Given the description of an element on the screen output the (x, y) to click on. 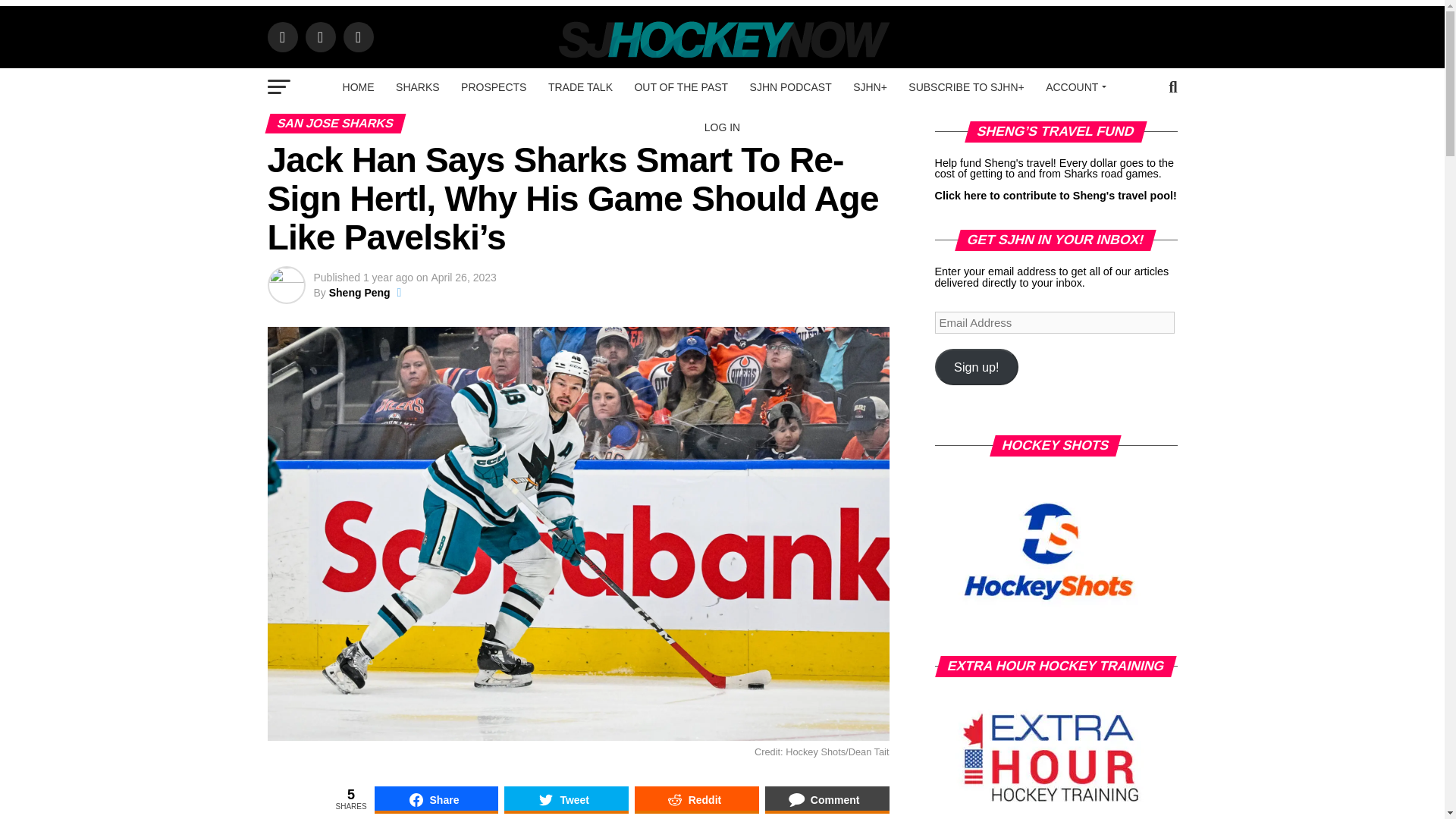
Posts by Sheng Peng (359, 292)
PROSPECTS (493, 86)
SHARKS (417, 86)
Share on Share (436, 800)
HOME (358, 86)
TRADE TALK (579, 86)
Share on Tweet (565, 800)
Share on Comment (827, 800)
Share on Reddit (696, 800)
